Given the description of an element on the screen output the (x, y) to click on. 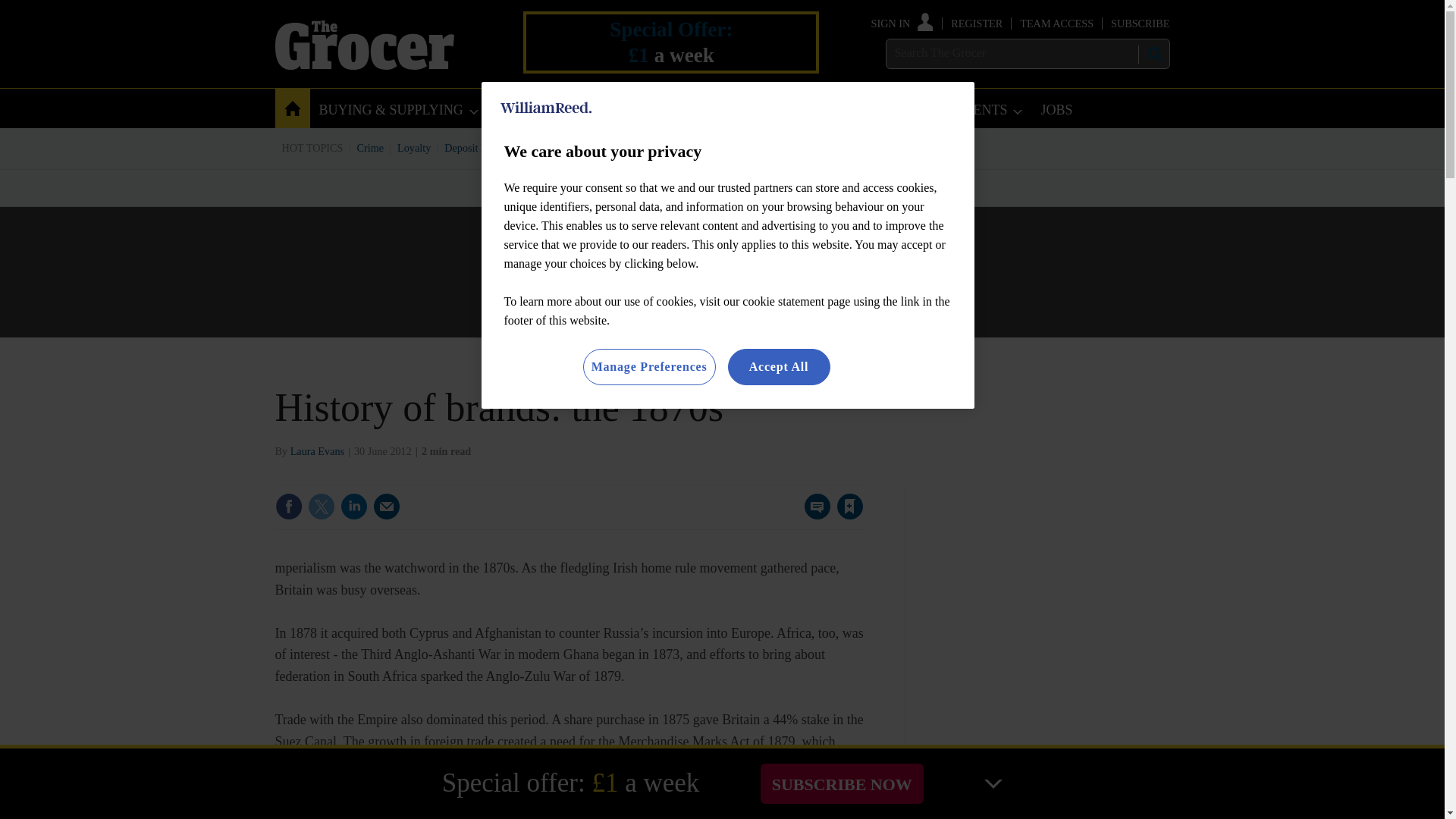
Vaping (774, 147)
Share this on Facebook (288, 506)
Crime (370, 147)
Cost of Living Crisis (699, 147)
Loyalty (414, 147)
SEARCH (1153, 53)
No comments (812, 515)
SUBSCRIBE NOW (841, 783)
REGISTER (976, 23)
Deposit Return Schemes (497, 147)
William Reed (545, 107)
Share this on Twitter (320, 506)
TEAM ACCESS (1056, 23)
SIGN IN (902, 23)
Share this on Linked in (352, 506)
